Given the description of an element on the screen output the (x, y) to click on. 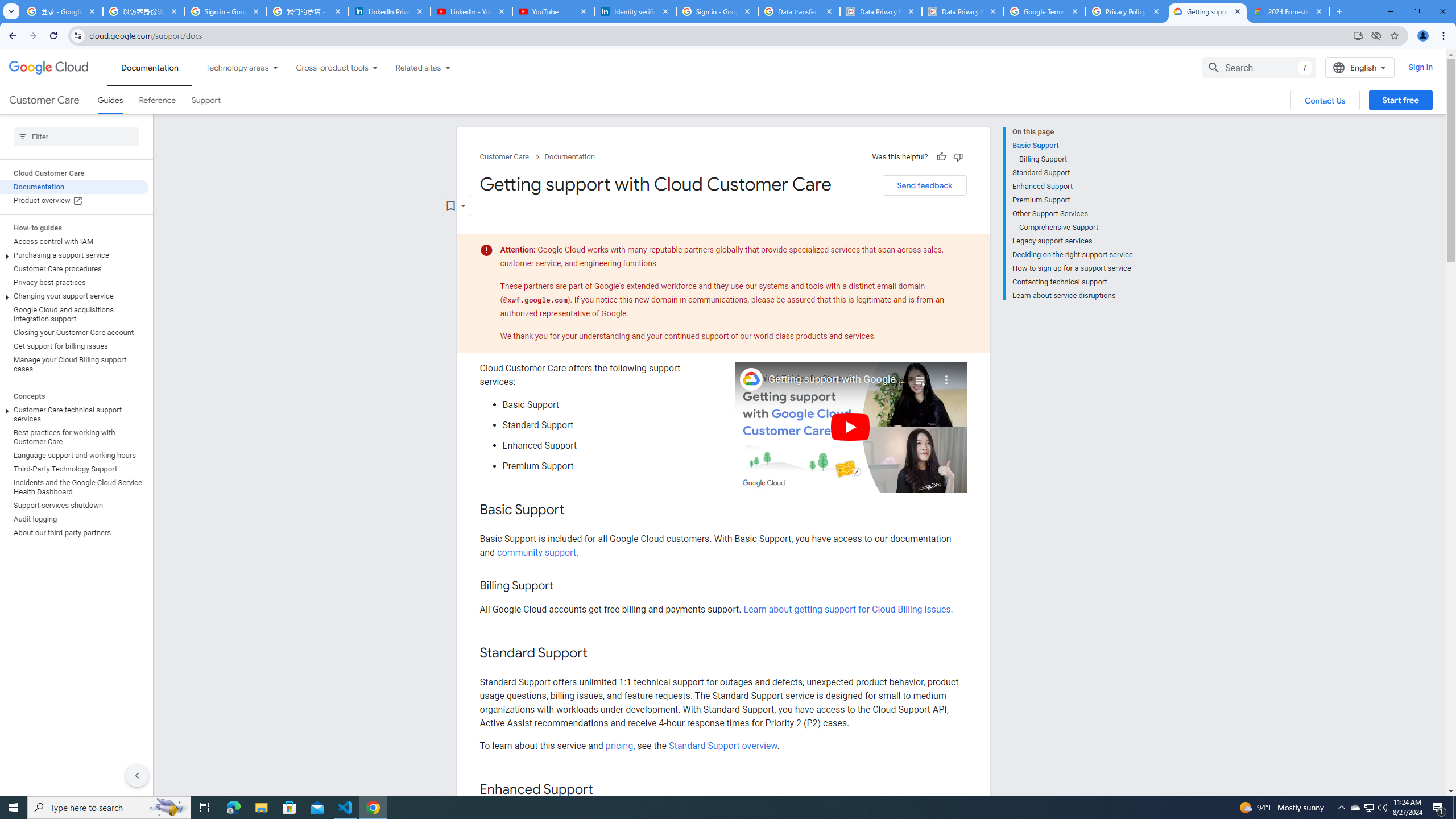
Contacting technical support (1071, 282)
Dropdown menu for Cross-product tools (374, 67)
community support (536, 552)
Legacy support services (1071, 241)
Open dropdown (456, 205)
Sign in - Google Accounts (716, 11)
Privacy best practices (74, 282)
Install Google Cloud (1358, 35)
